Given the description of an element on the screen output the (x, y) to click on. 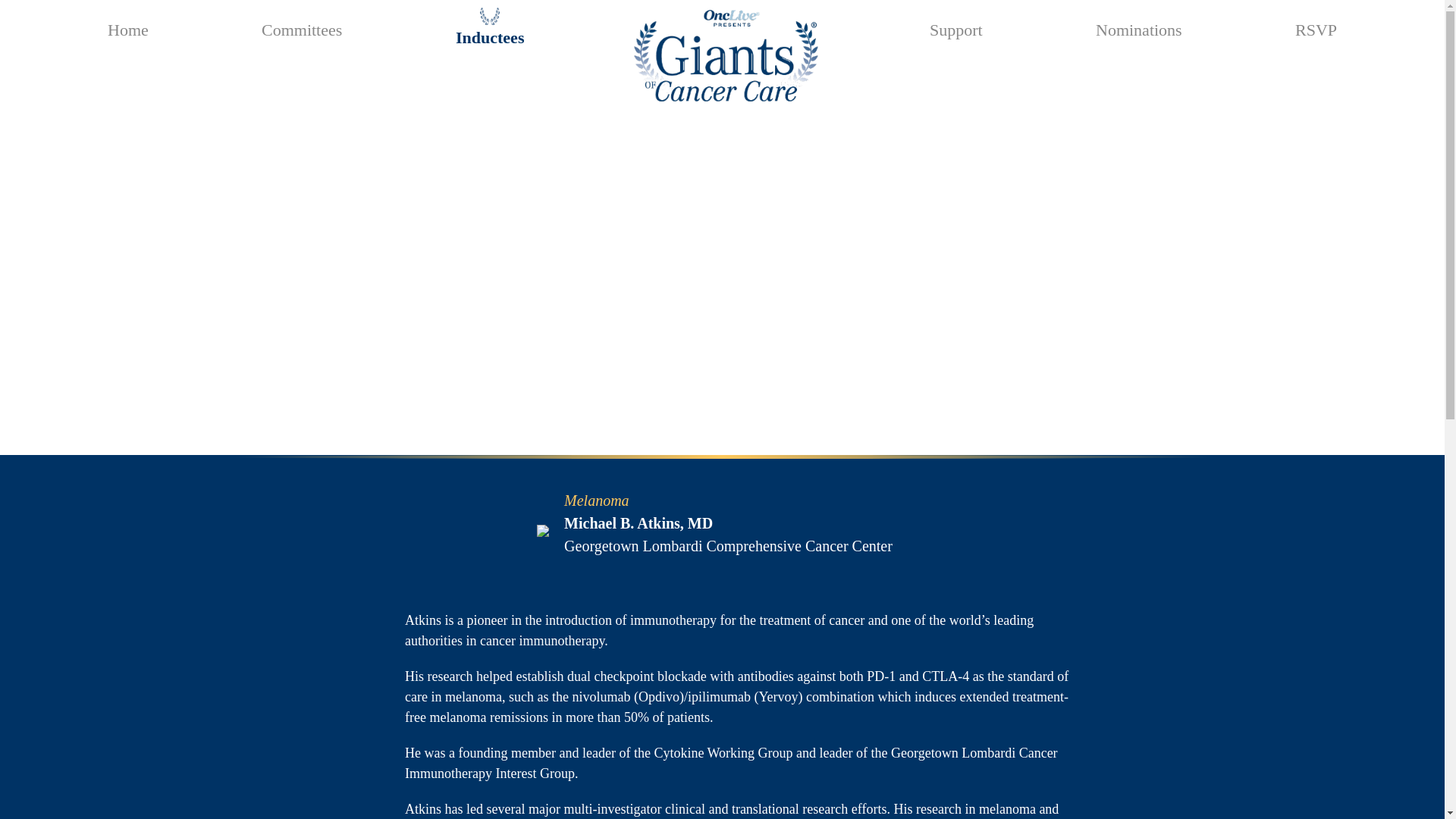
Inductees (489, 35)
Home (127, 27)
Committees (301, 27)
RSVP (1315, 27)
Nominations (1139, 27)
Support (956, 27)
